Given the description of an element on the screen output the (x, y) to click on. 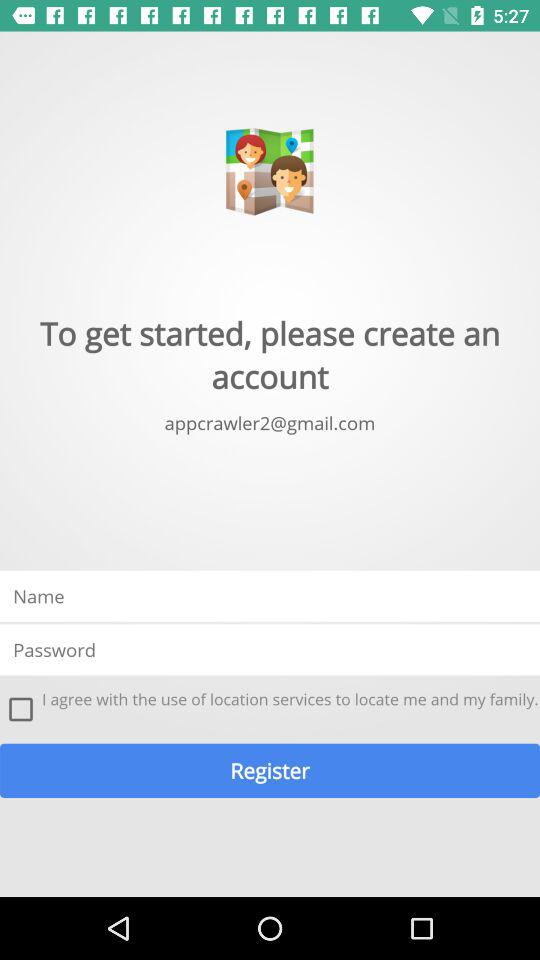
password (270, 649)
